Given the description of an element on the screen output the (x, y) to click on. 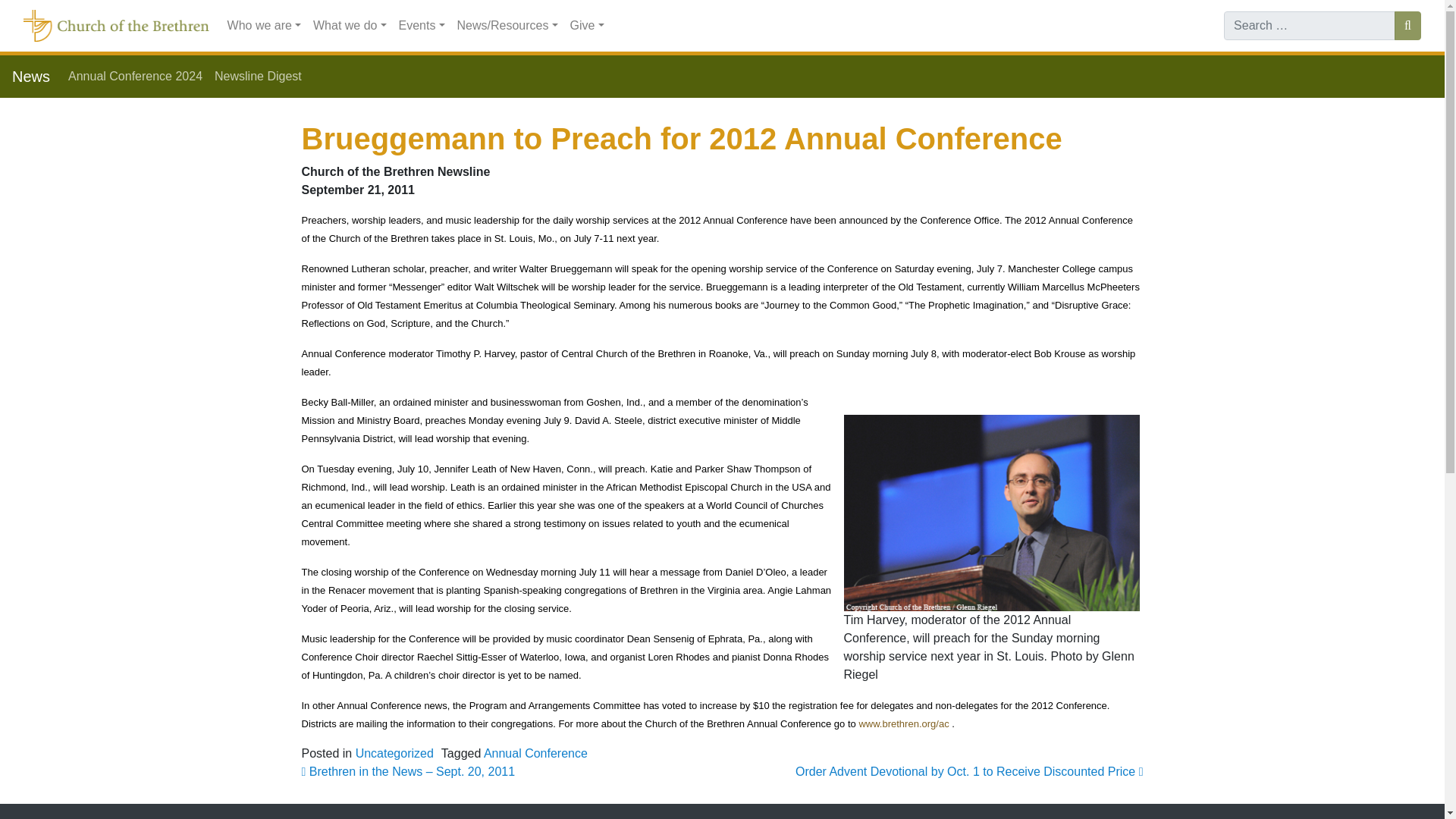
What we do (350, 25)
Who we are (264, 25)
Events (422, 25)
Who we are (264, 25)
What we do (350, 25)
